Given the description of an element on the screen output the (x, y) to click on. 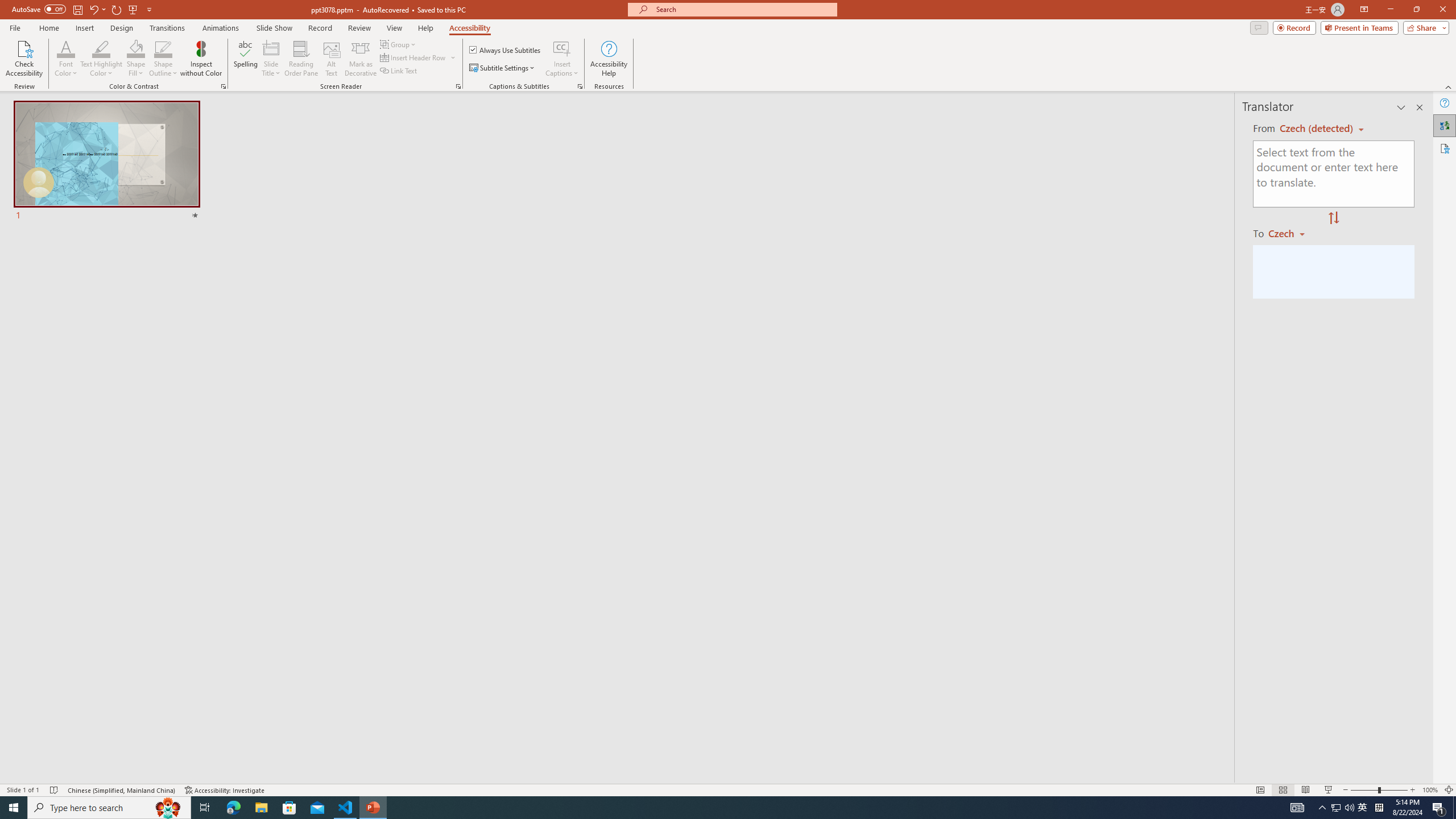
Reading Order Pane (301, 58)
Screen Reader (458, 85)
